Given the description of an element on the screen output the (x, y) to click on. 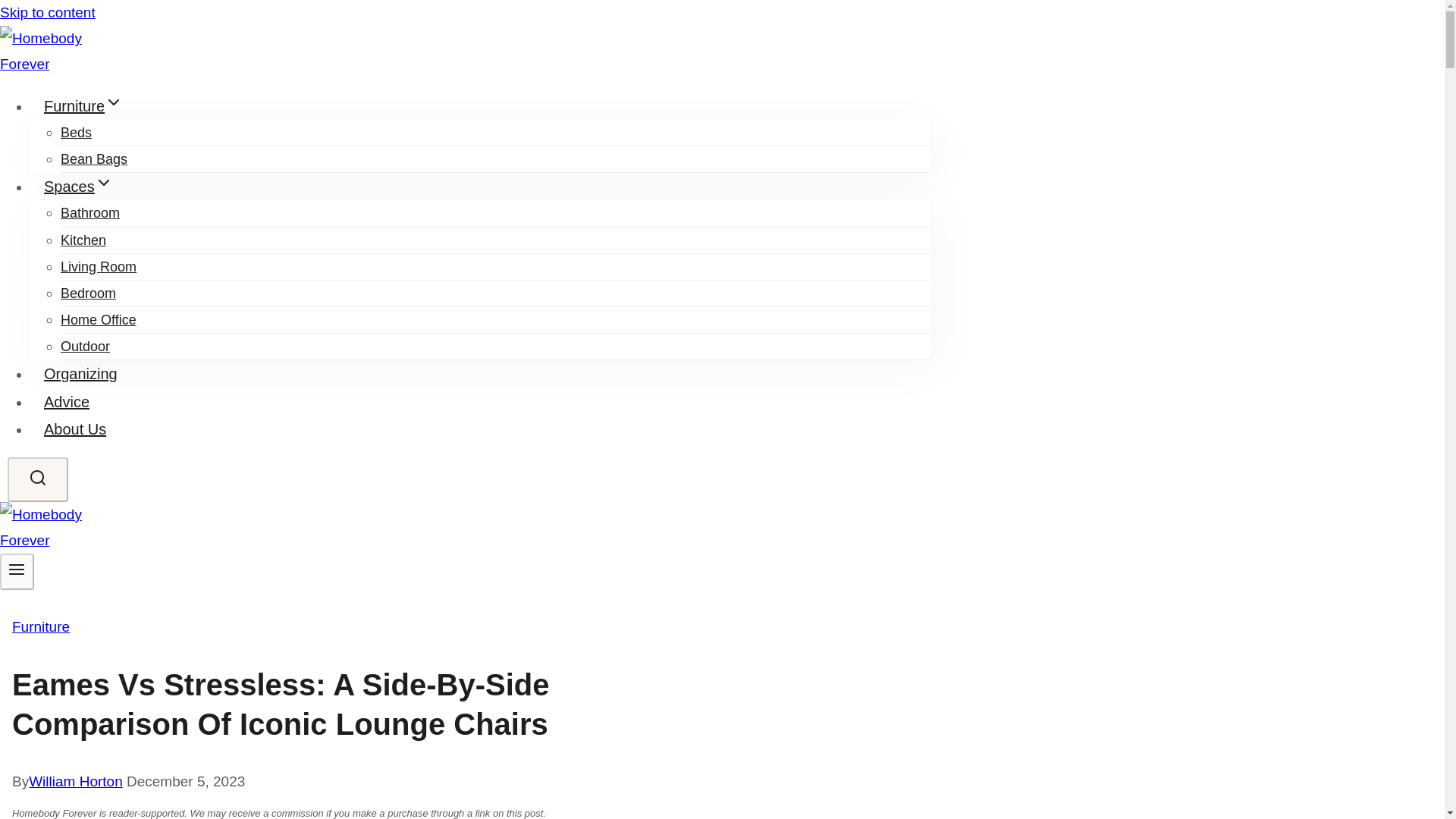
Furniture (40, 626)
Expand (103, 182)
Bean Bags (94, 159)
Skip to content (48, 12)
William Horton (75, 781)
Search (37, 479)
Toggle Menu (16, 569)
Search (37, 477)
Outdoor (85, 346)
Bedroom (88, 292)
